Given the description of an element on the screen output the (x, y) to click on. 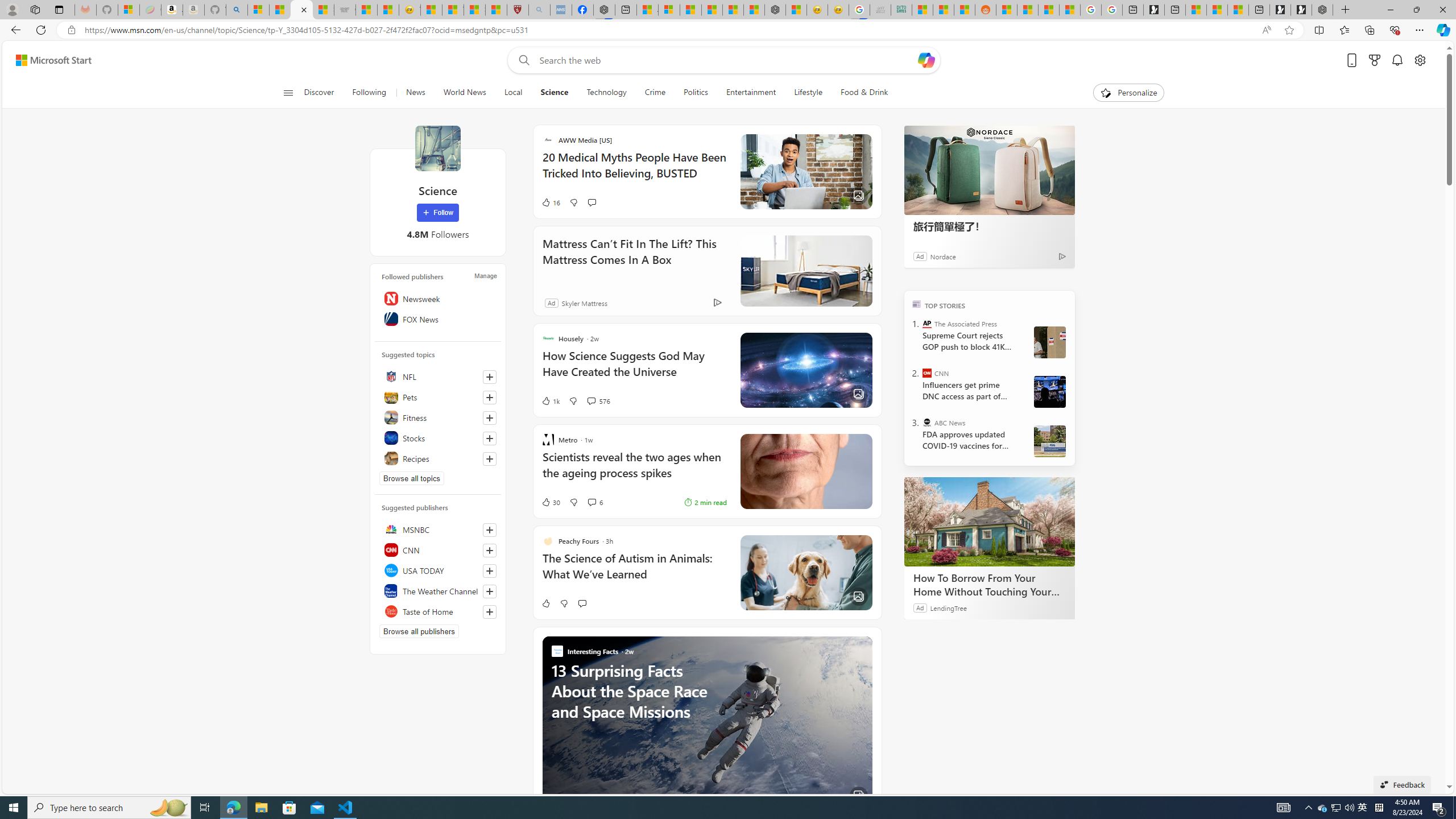
These 3 Stocks Pay You More Than 5% to Own Them (1238, 9)
USA TODAY (437, 570)
The Associated Press (927, 323)
The Weather Channel (437, 590)
Follow this source (489, 612)
